Given the description of an element on the screen output the (x, y) to click on. 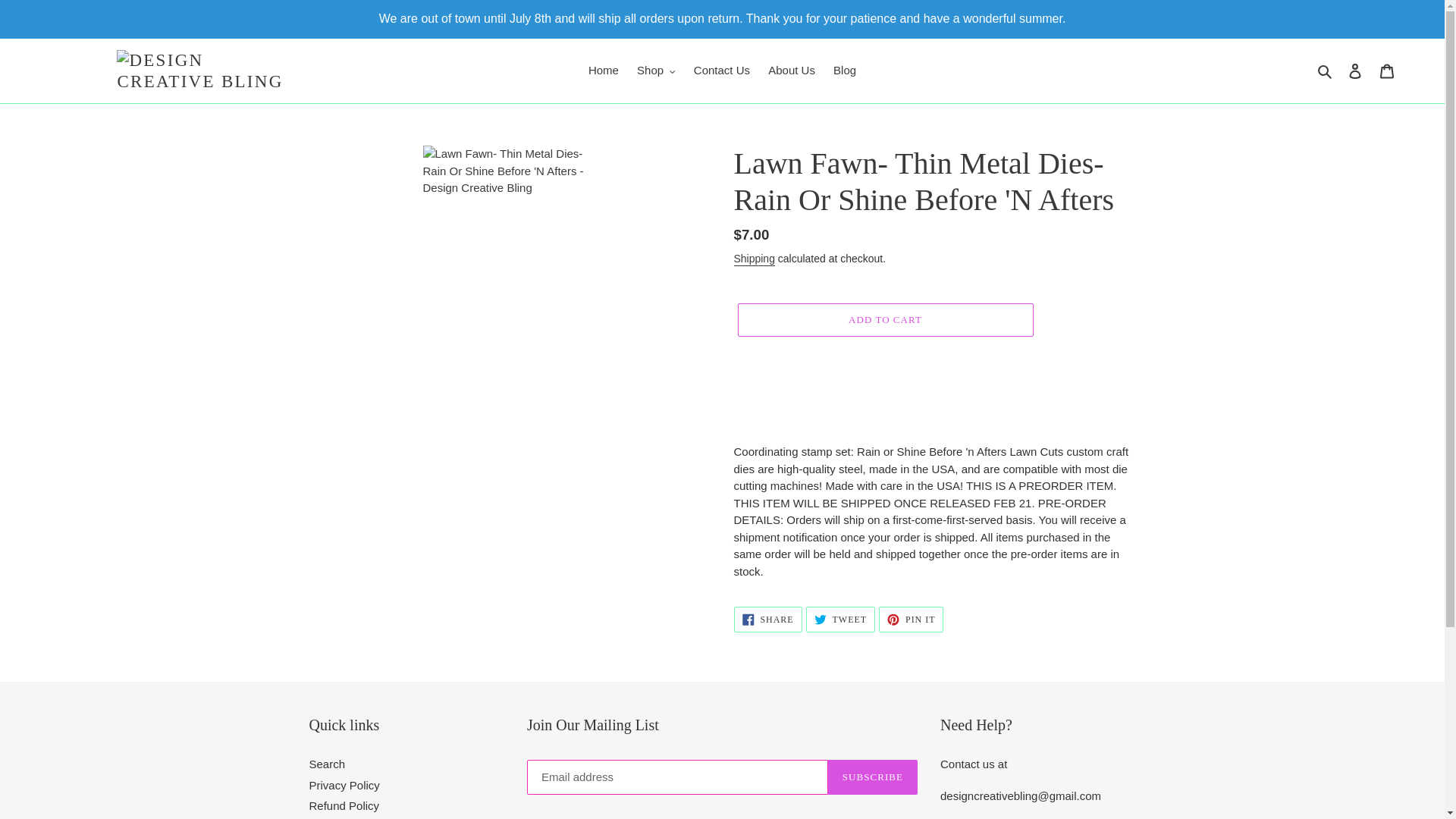
Shop (655, 70)
Blog (844, 70)
Home (603, 70)
Search (1326, 70)
About Us (791, 70)
Contact Us (721, 70)
